Given the description of an element on the screen output the (x, y) to click on. 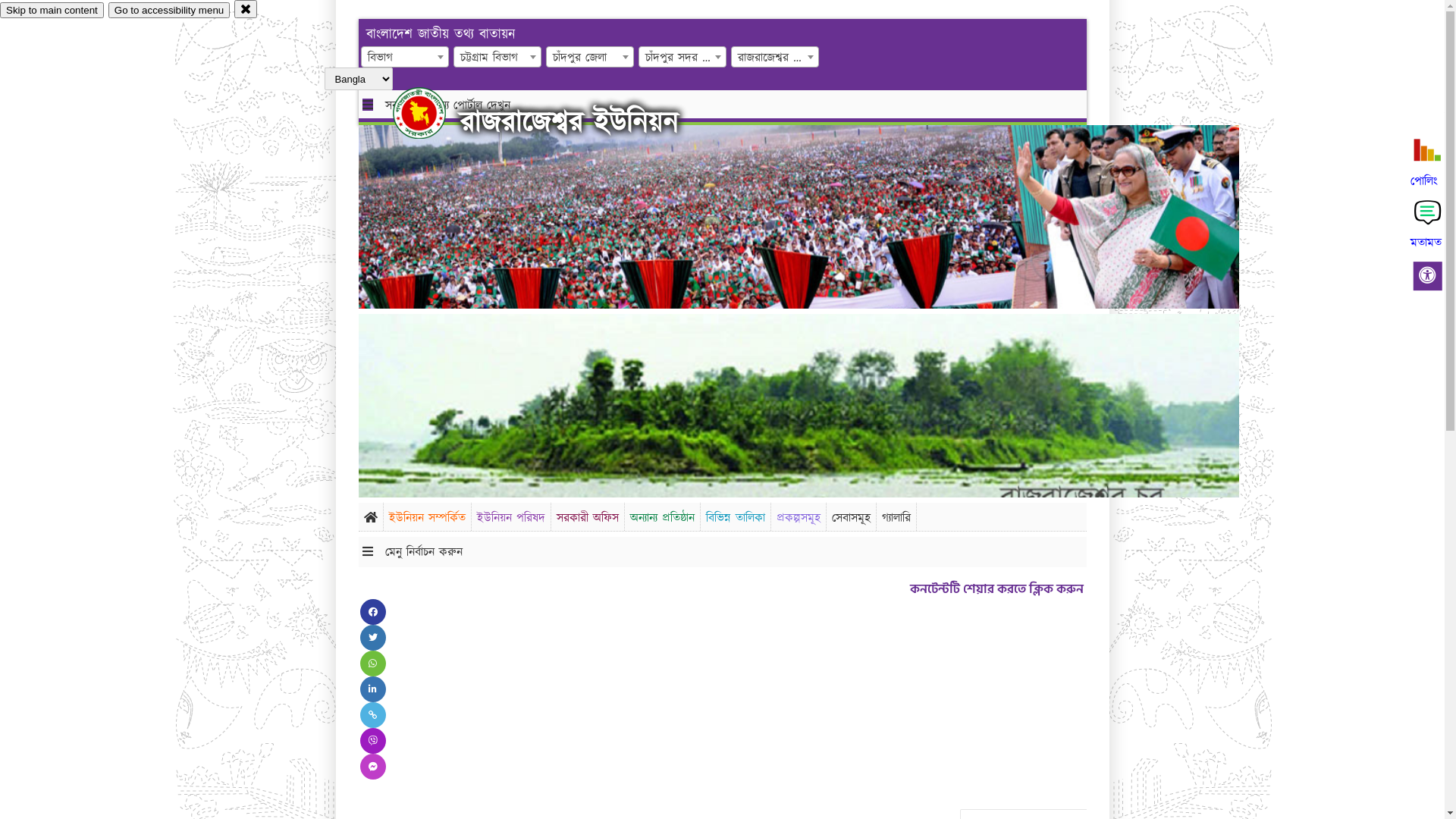
close Element type: hover (245, 9)
Skip to main content Element type: text (51, 10)
Go to accessibility menu Element type: text (168, 10)

                
             Element type: hover (431, 112)
